Given the description of an element on the screen output the (x, y) to click on. 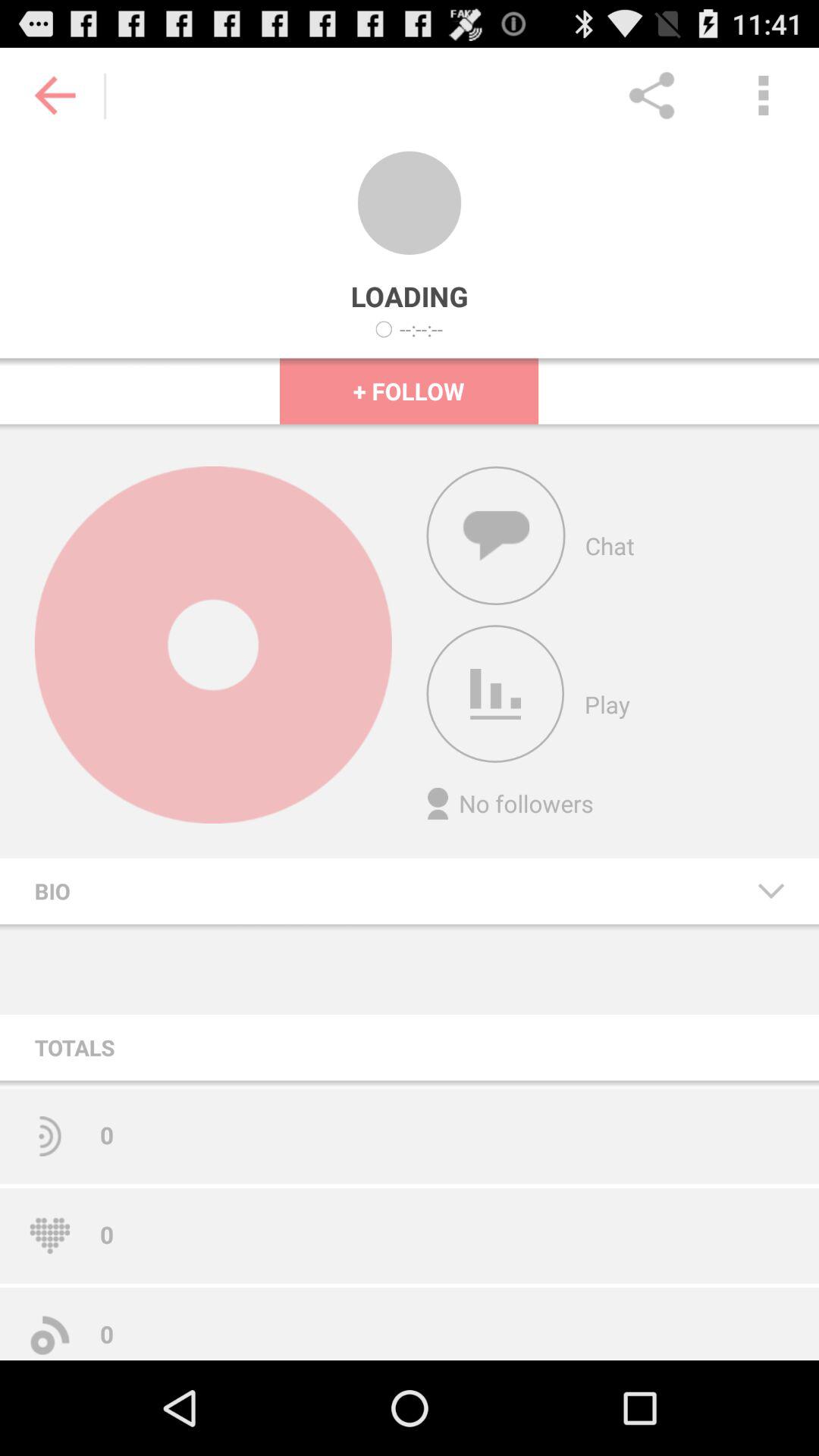
choose the + follow item (408, 391)
